Given the description of an element on the screen output the (x, y) to click on. 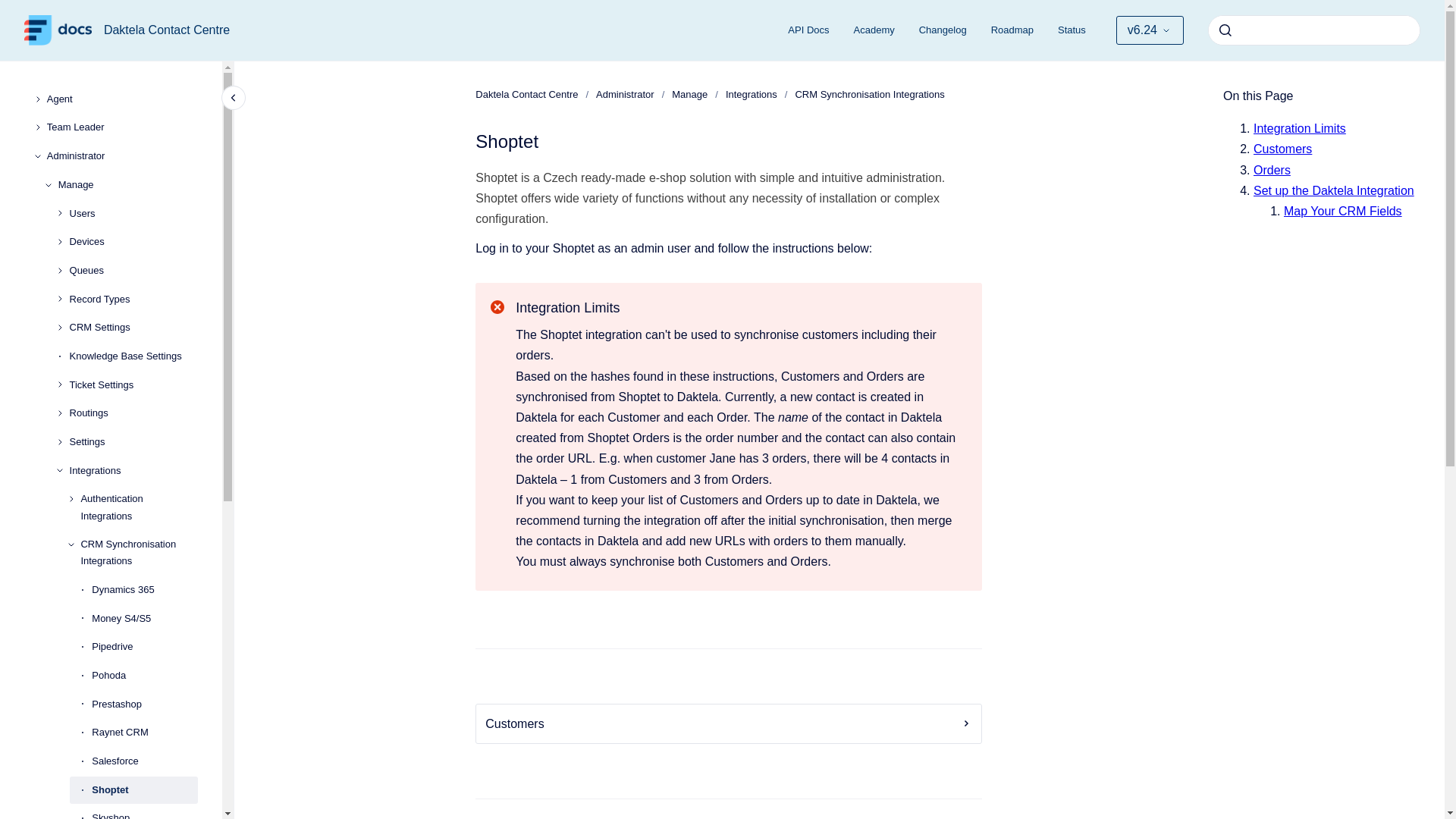
API Docs (808, 29)
Record Types (133, 298)
Academy (874, 29)
Roadmap (1011, 29)
Users (133, 213)
Status (1071, 29)
Queues (133, 270)
Knowledge Base Settings (133, 356)
Authentication Integrations (139, 507)
CRM Settings (133, 327)
